Given the description of an element on the screen output the (x, y) to click on. 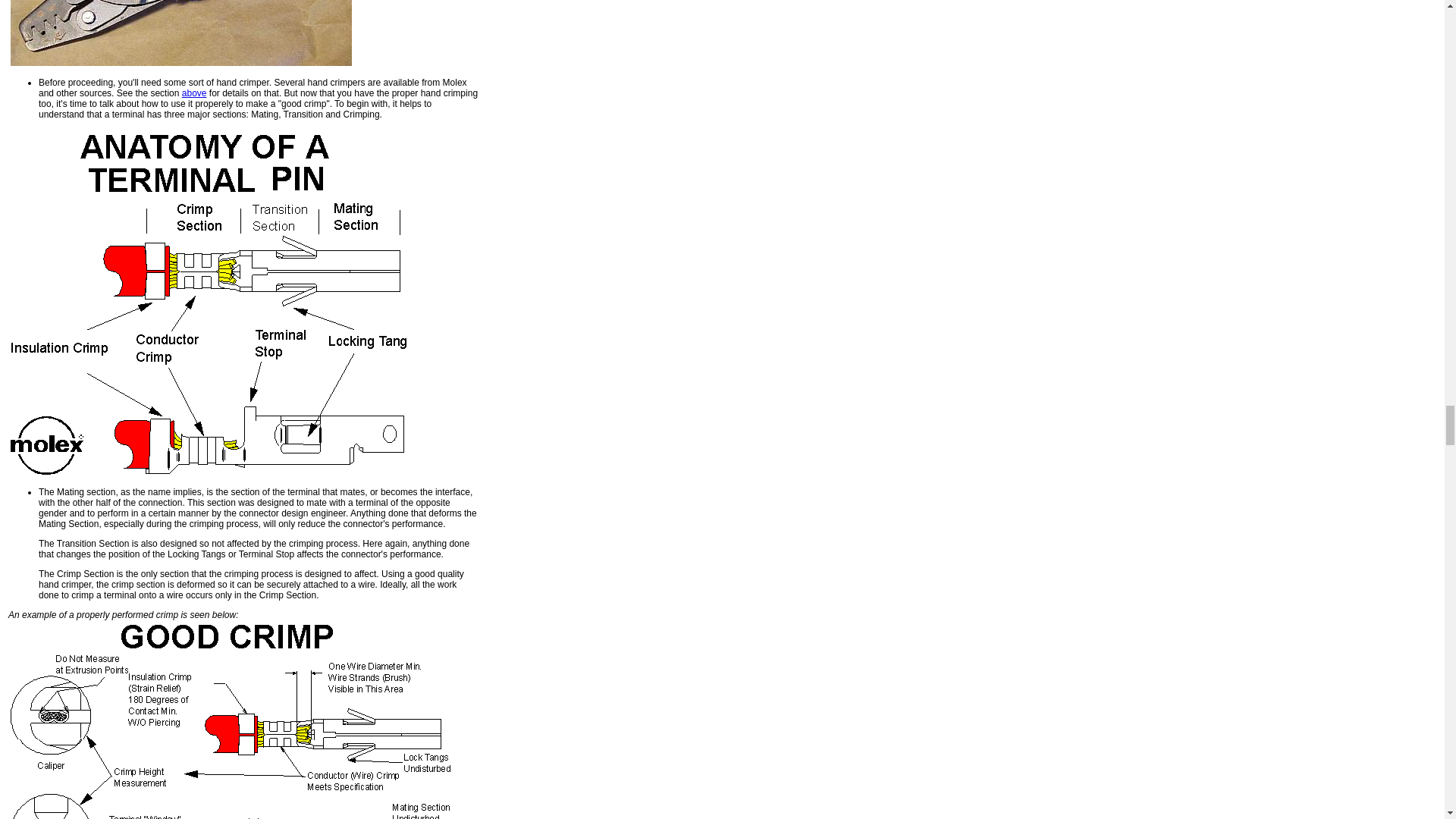
above (194, 92)
